Given the description of an element on the screen output the (x, y) to click on. 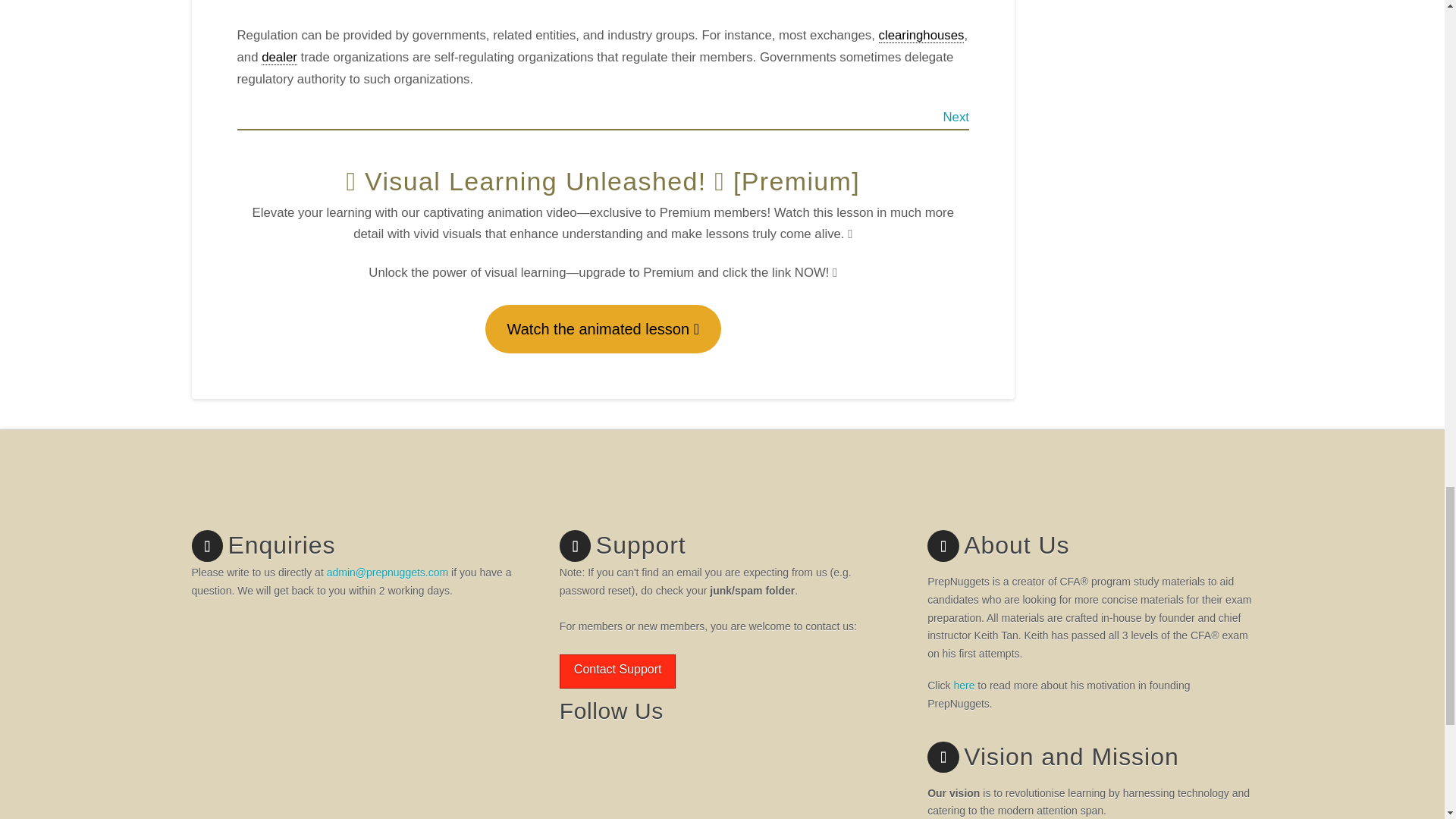
Find us on YouTube (636, 757)
clearinghouses (921, 35)
Contact Support (618, 671)
Next (956, 116)
Follow us on Facebook (583, 757)
dealer (279, 57)
